Given the description of an element on the screen output the (x, y) to click on. 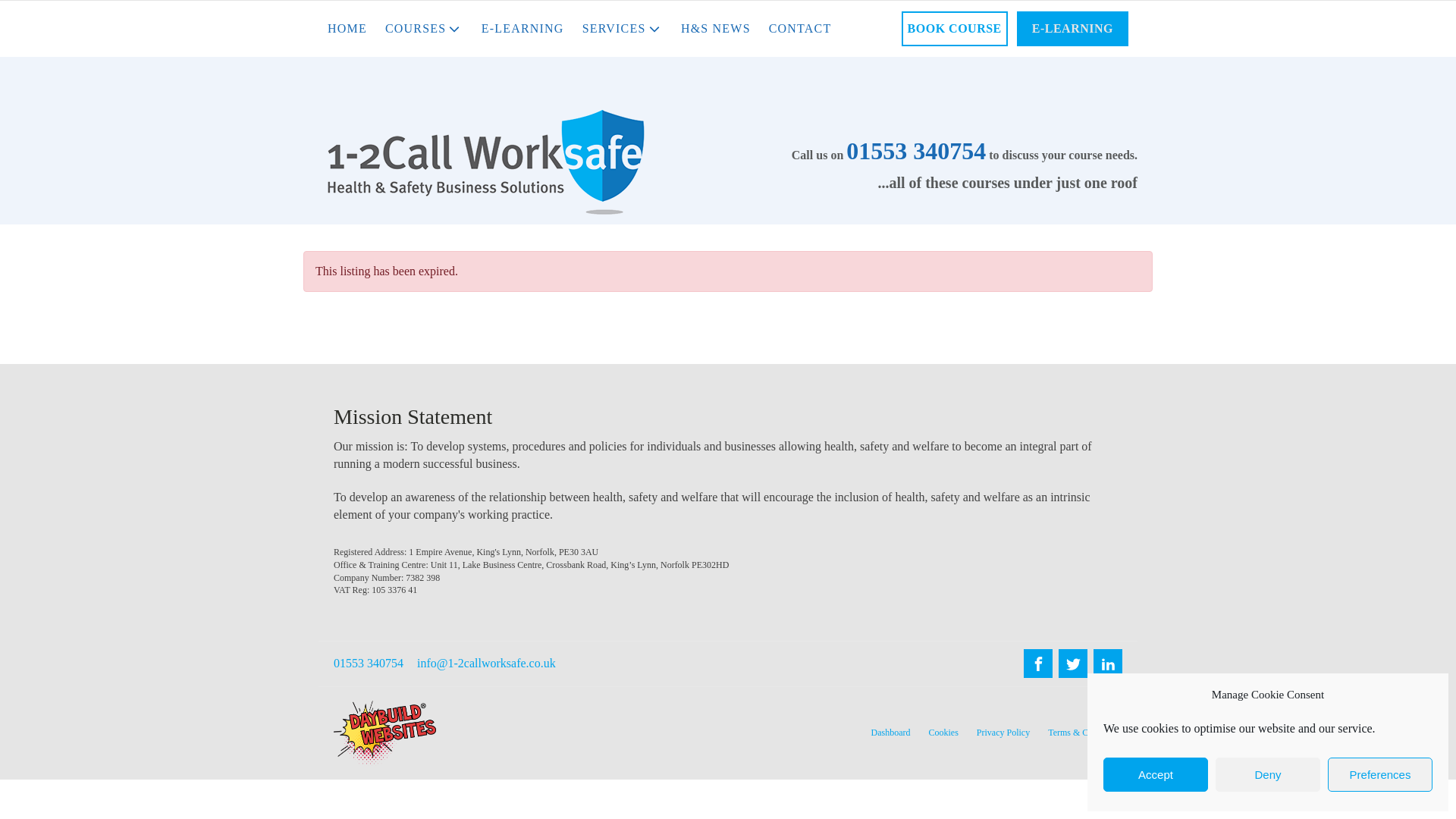
COURSES (423, 29)
CONTACT (800, 29)
BOOK COURSE (954, 28)
SERVICES (622, 29)
HOME (346, 29)
E-LEARNING (522, 29)
